Given the description of an element on the screen output the (x, y) to click on. 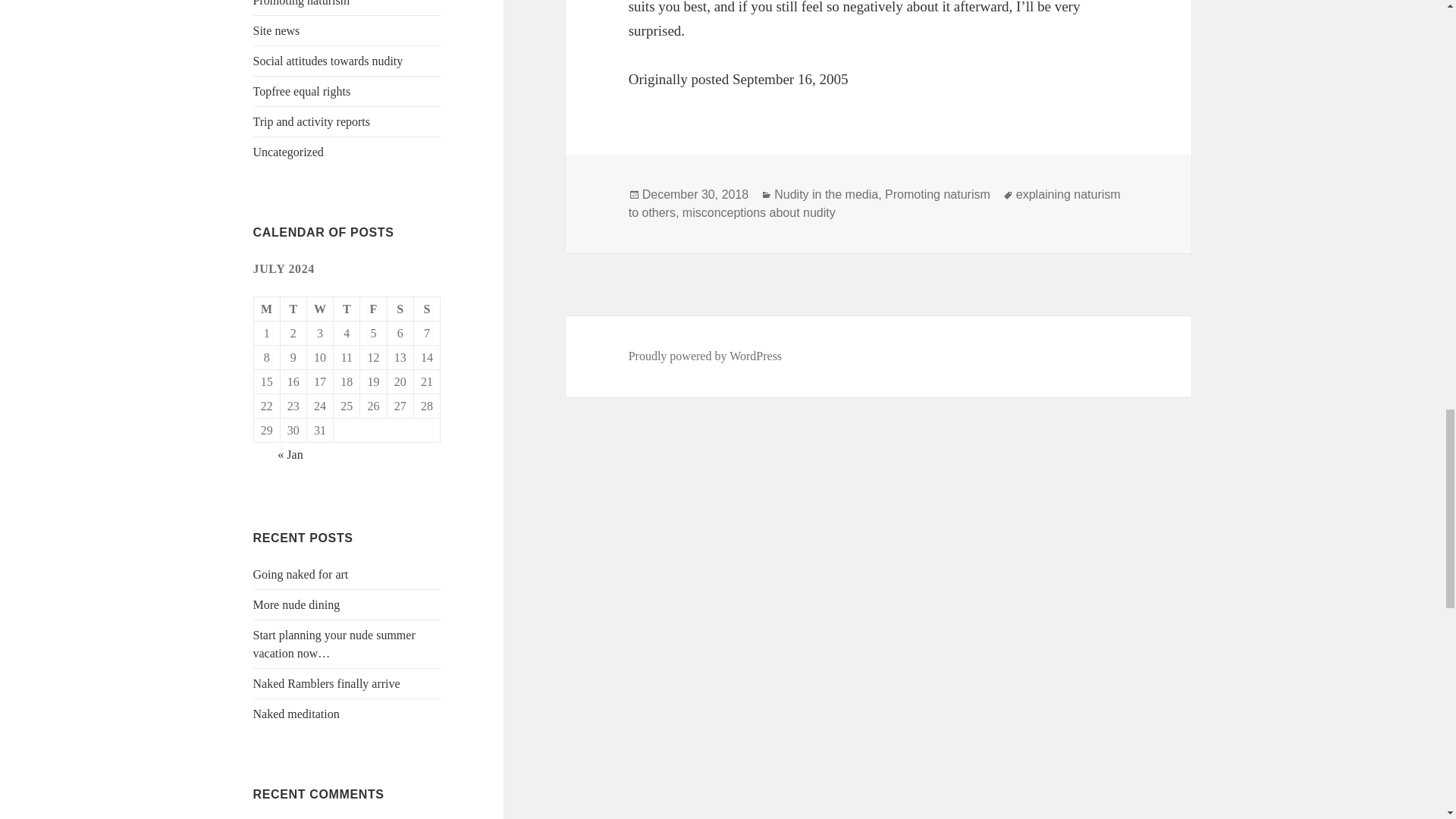
Going naked for art (301, 574)
Sunday (427, 309)
Social attitudes towards nudity (328, 60)
Monday (267, 309)
Friday (373, 309)
Tuesday (294, 309)
Thursday (346, 309)
Uncategorized (288, 151)
Wednesday (320, 309)
Promoting naturism (301, 3)
Saturday (400, 309)
Site news (276, 30)
Topfree equal rights (301, 91)
Trip and activity reports (312, 121)
